Given the description of an element on the screen output the (x, y) to click on. 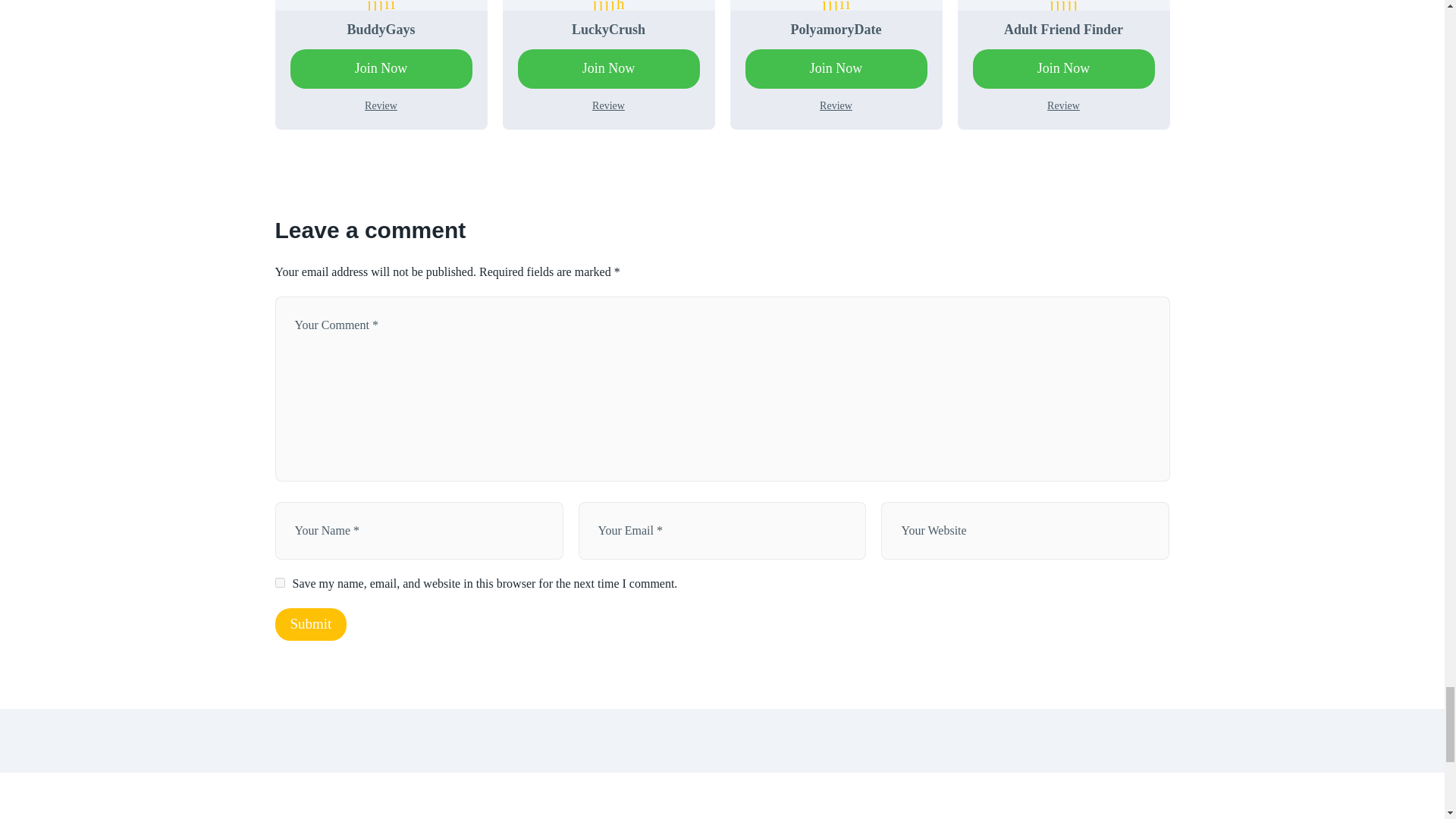
yes (279, 583)
Submit (310, 624)
